Given the description of an element on the screen output the (x, y) to click on. 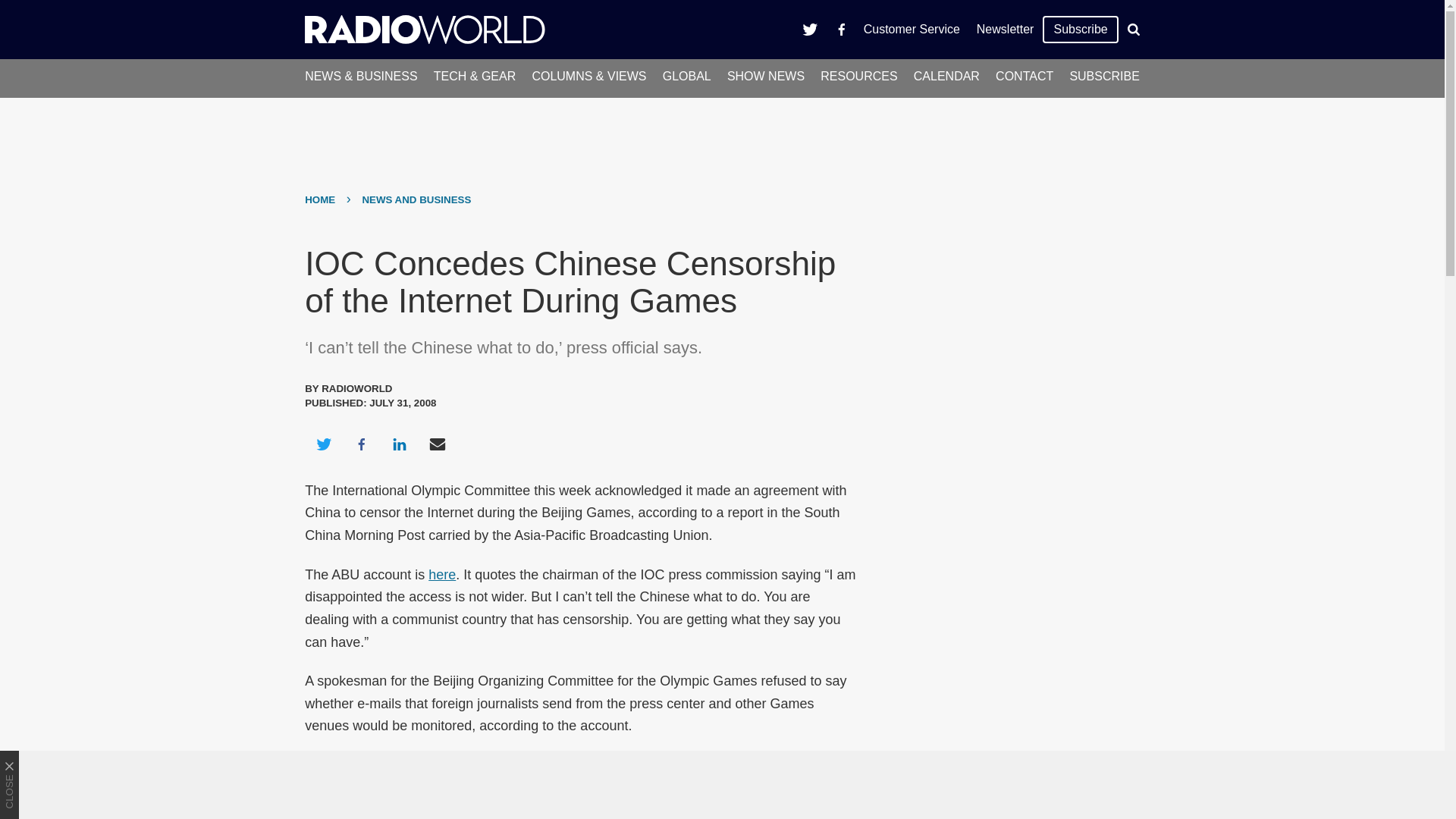
Customer Service (912, 29)
Share on Twitter (323, 444)
Share via Email (438, 444)
Share on Facebook (361, 444)
Share on LinkedIn (399, 444)
